Given the description of an element on the screen output the (x, y) to click on. 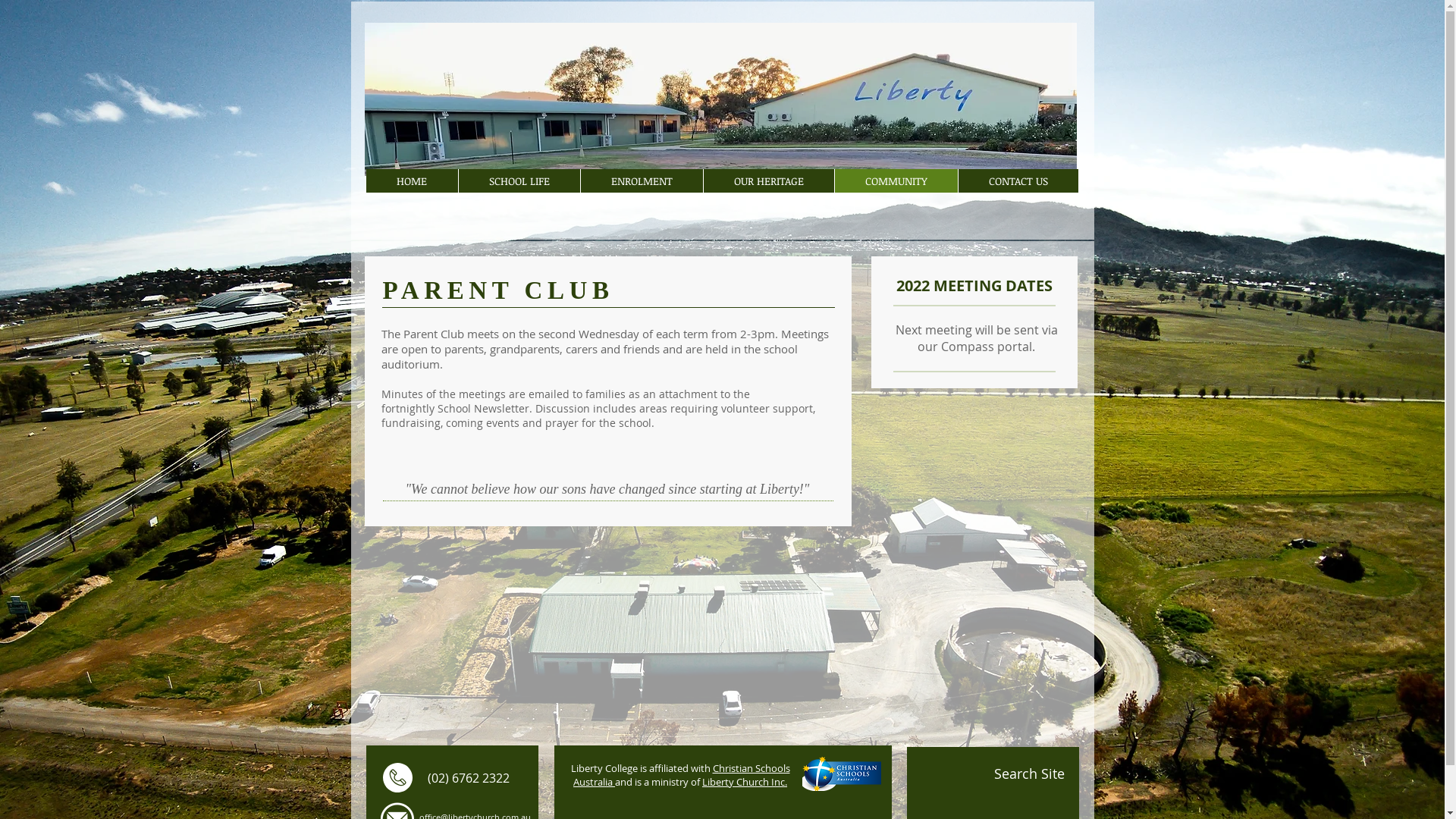
COMMUNITY Element type: text (895, 180)
ENROLMENT Element type: text (640, 180)
Liberty Church Inc. Element type: text (744, 781)
HOME Element type: text (411, 180)
SCHOOL LIFE Element type: text (519, 180)
OUR HERITAGE Element type: text (767, 180)
CONTACT US Element type: text (1017, 180)
IMGP6666.JPG Element type: hover (720, 98)
Christian Schools Element type: text (751, 768)
Australia  Element type: text (594, 781)
